Given the description of an element on the screen output the (x, y) to click on. 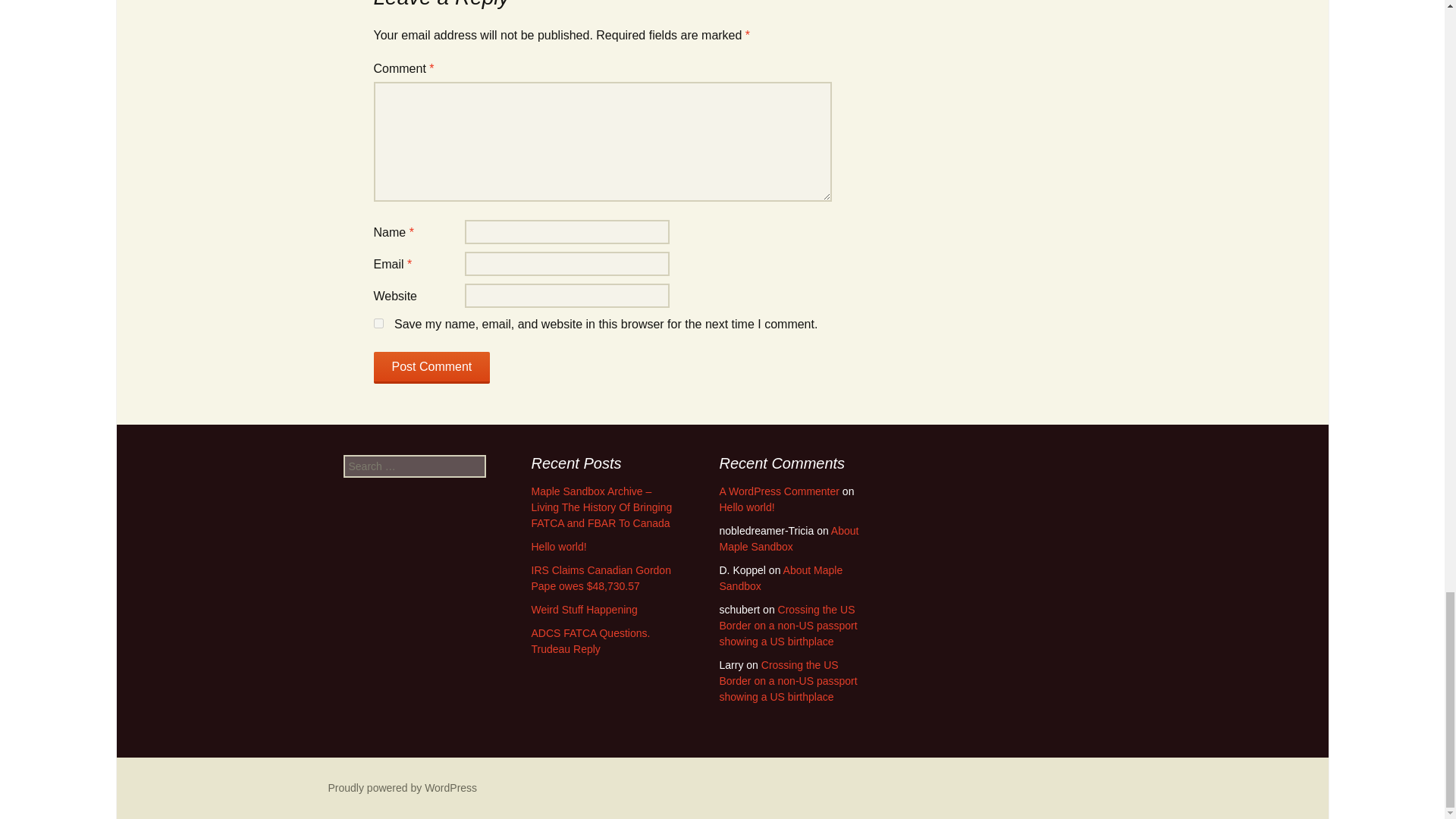
Post Comment (430, 368)
Post Comment (430, 368)
yes (377, 323)
